Given the description of an element on the screen output the (x, y) to click on. 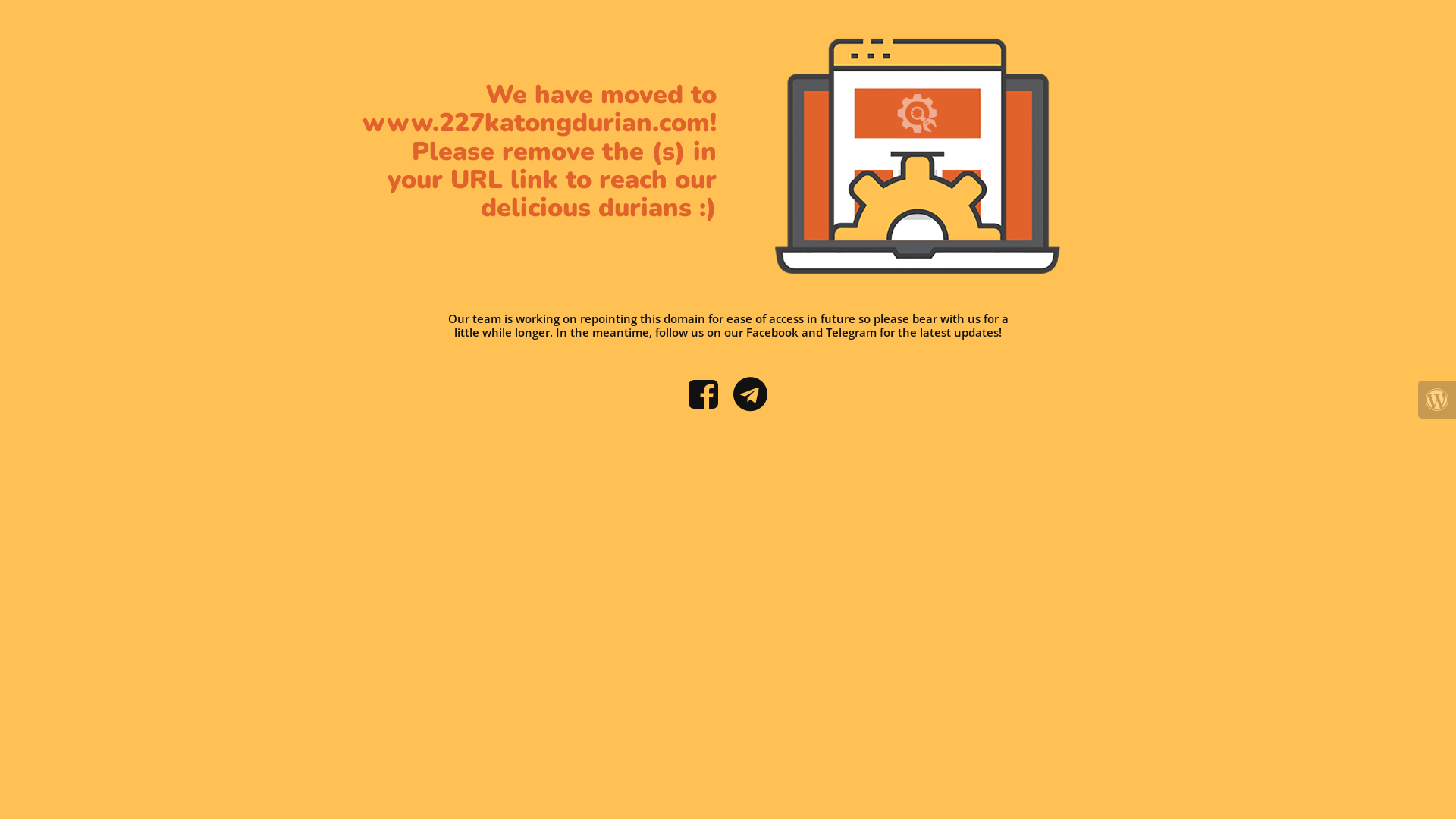
Site Setup is Under Way Element type: hover (917, 155)
